Given the description of an element on the screen output the (x, y) to click on. 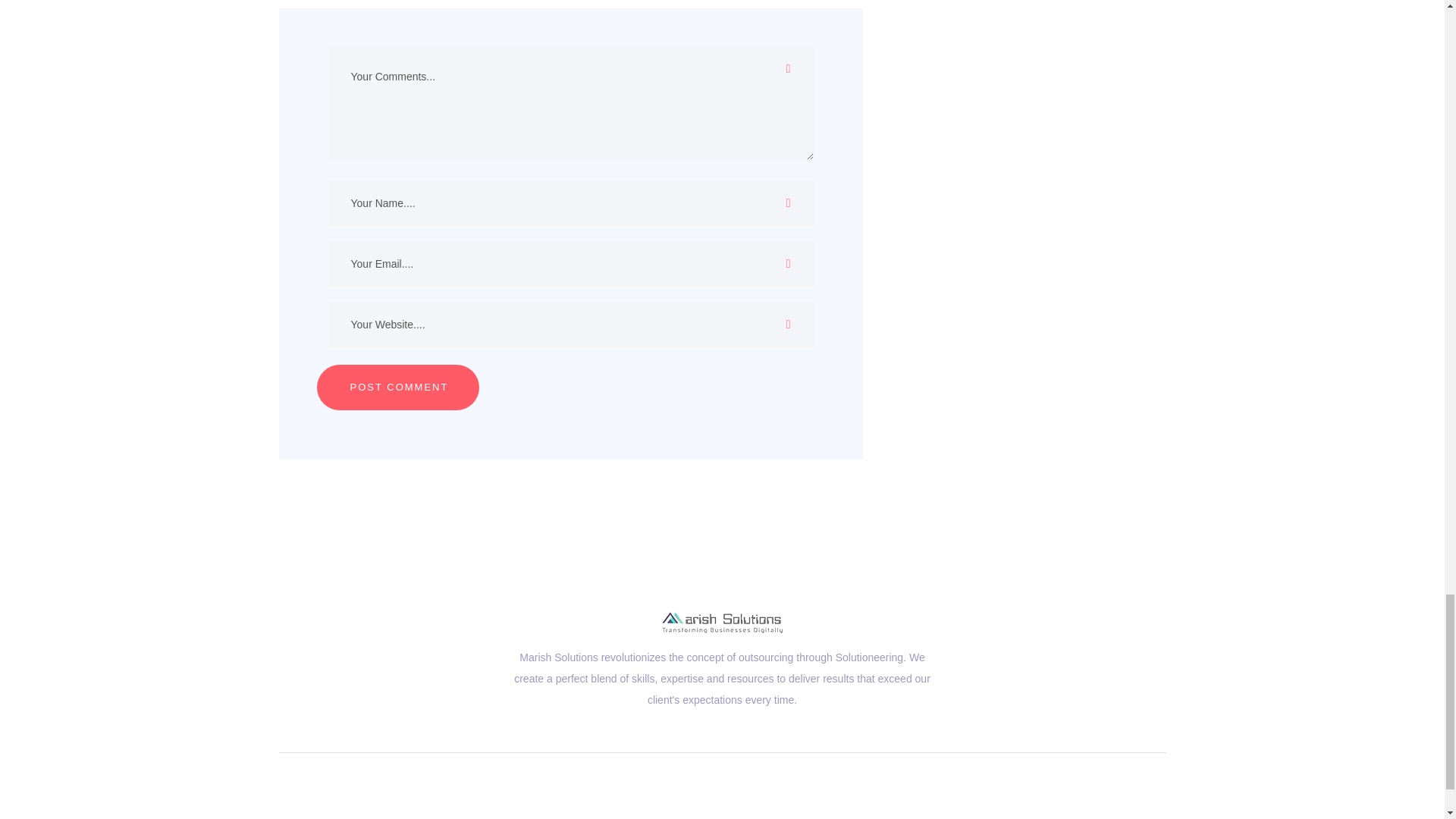
Post comment (398, 387)
Post comment (398, 387)
